Given the description of an element on the screen output the (x, y) to click on. 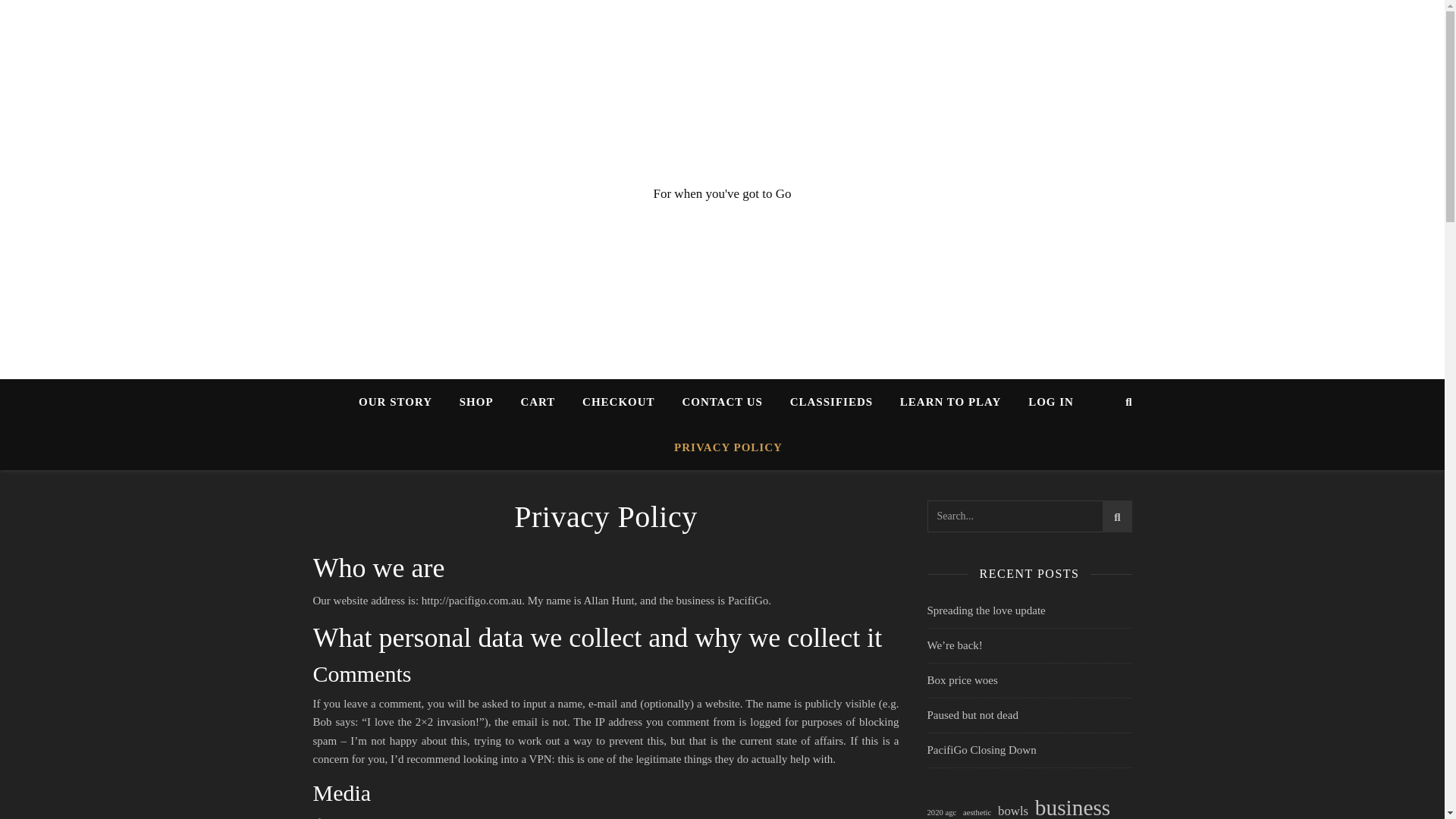
Spreading the love update (985, 610)
LEARN TO PLAY (950, 402)
business (1072, 807)
Box price woes (961, 680)
SHOP (475, 402)
CONTACT US (721, 402)
PacifiGo Closing Down (980, 749)
aesthetic (976, 811)
CLASSIFIEDS (831, 402)
OUR STORY (401, 402)
